Given the description of an element on the screen output the (x, y) to click on. 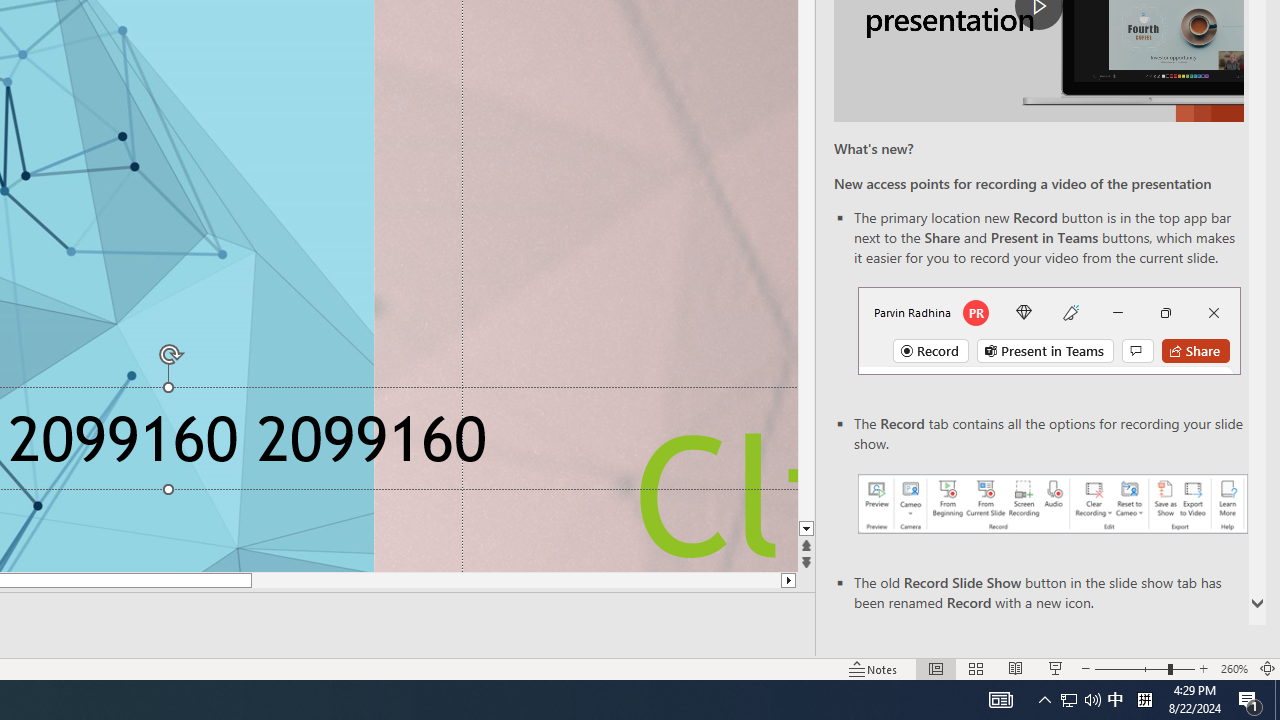
Record your presentations screenshot one (1052, 503)
Page down (806, 357)
Zoom 260% (1234, 668)
Record button in top bar (1049, 331)
